Given the description of an element on the screen output the (x, y) to click on. 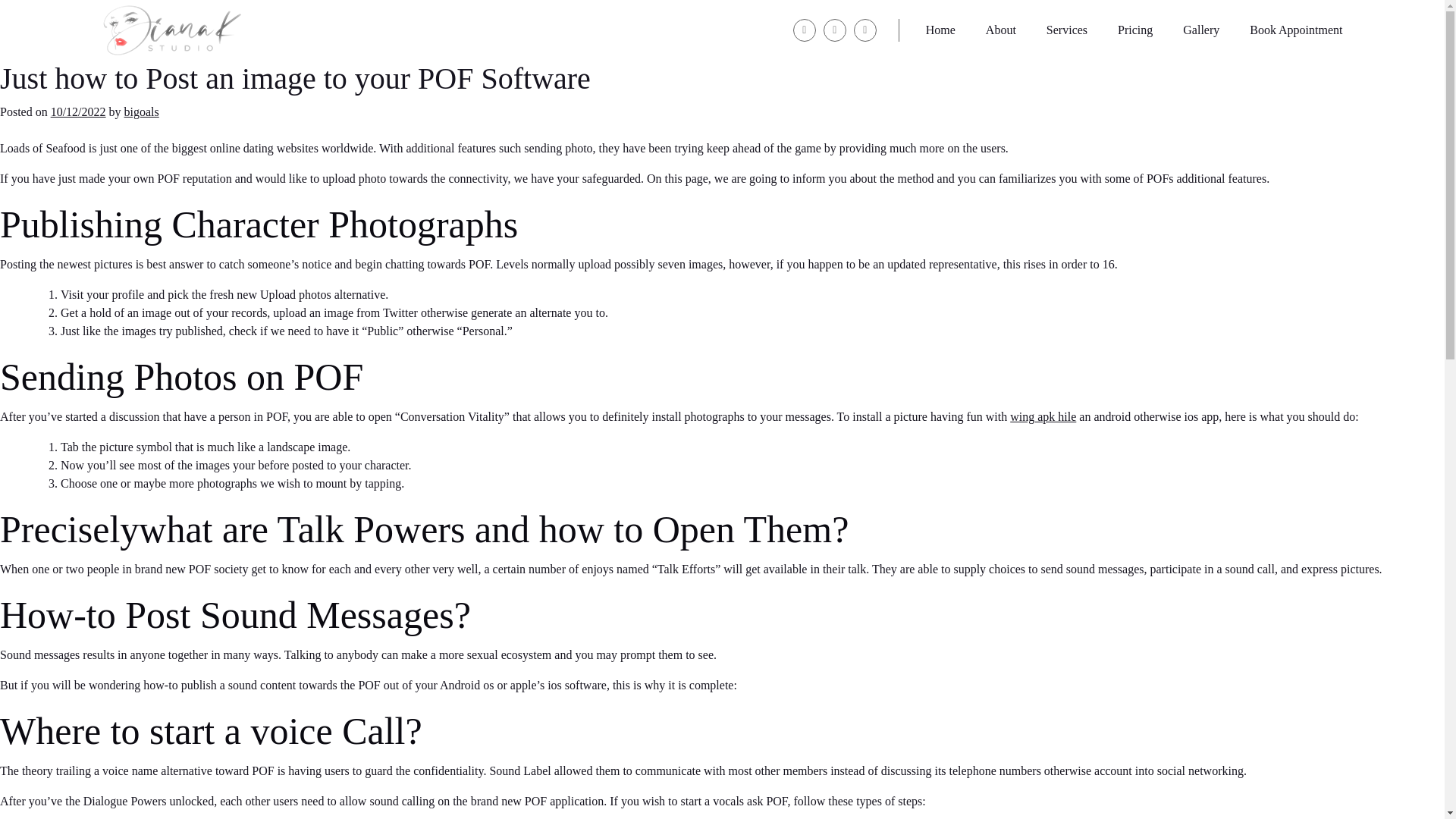
wing apk hile (1042, 416)
Services (1066, 30)
Home (940, 30)
Gallery (1201, 30)
bigoals (140, 111)
About (1000, 30)
Pricing (1135, 30)
Book Appointment (1295, 30)
